Given the description of an element on the screen output the (x, y) to click on. 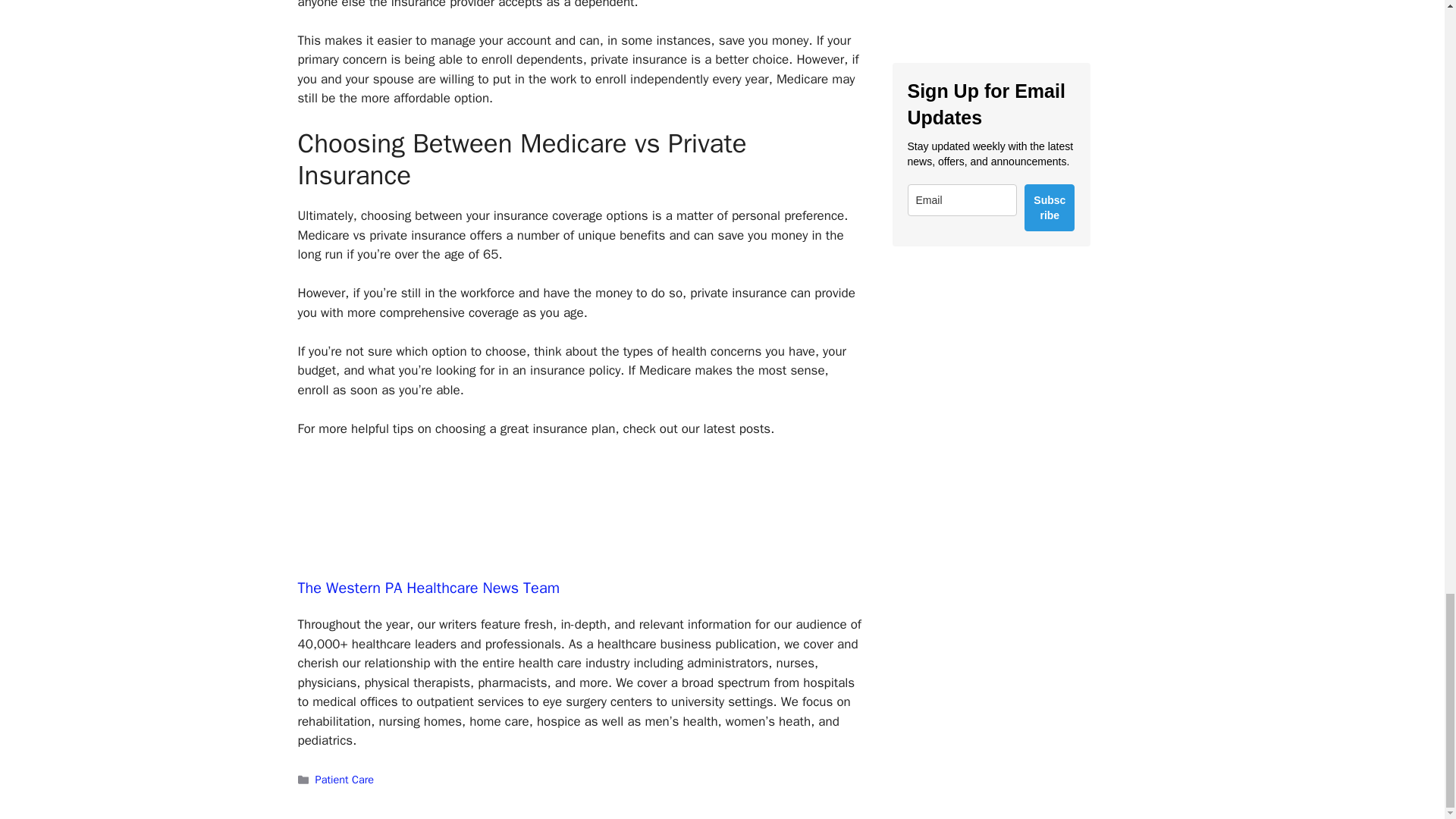
The Western PA Healthcare News Team (428, 587)
